Given the description of an element on the screen output the (x, y) to click on. 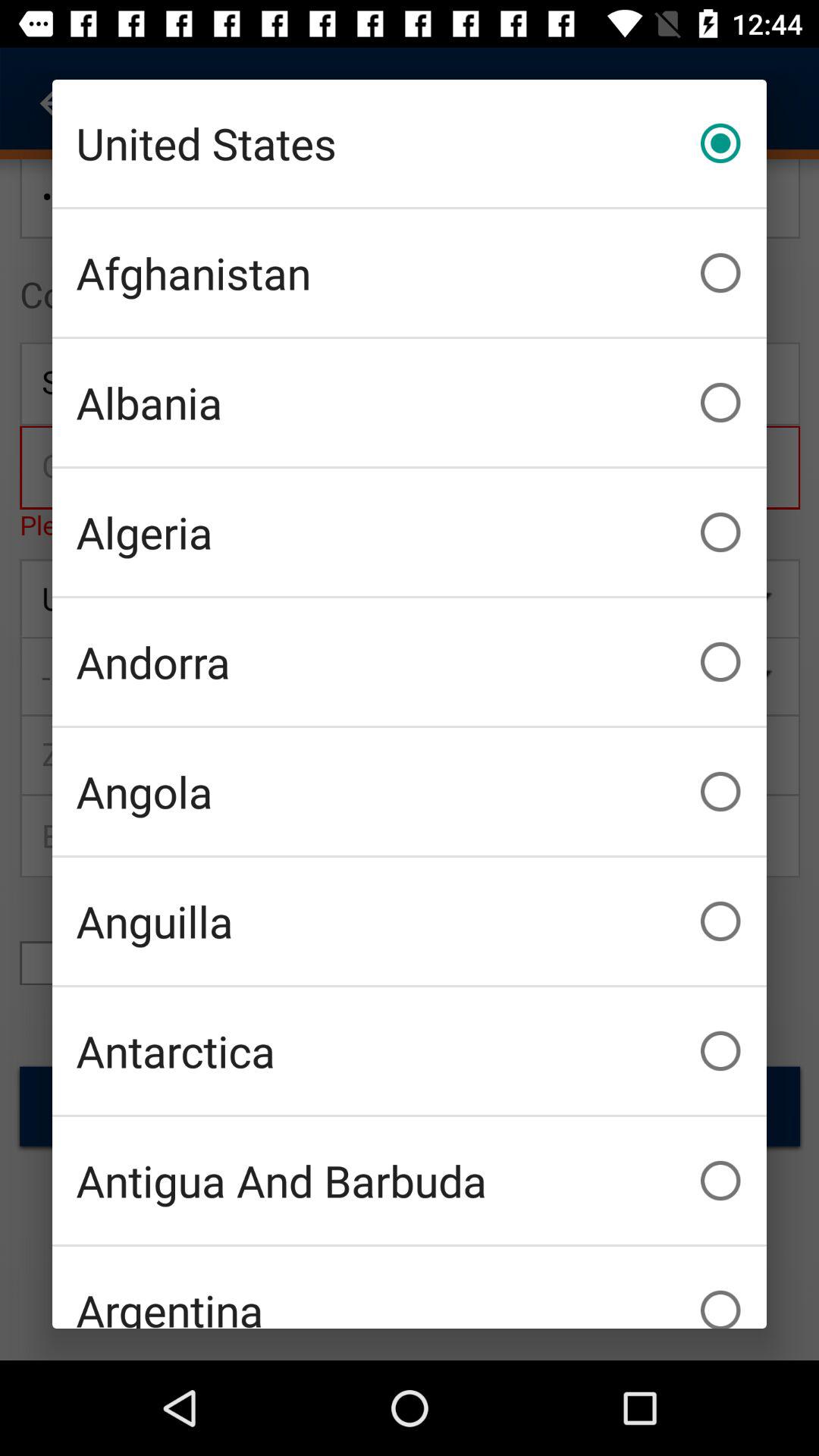
swipe until united states item (409, 143)
